Given the description of an element on the screen output the (x, y) to click on. 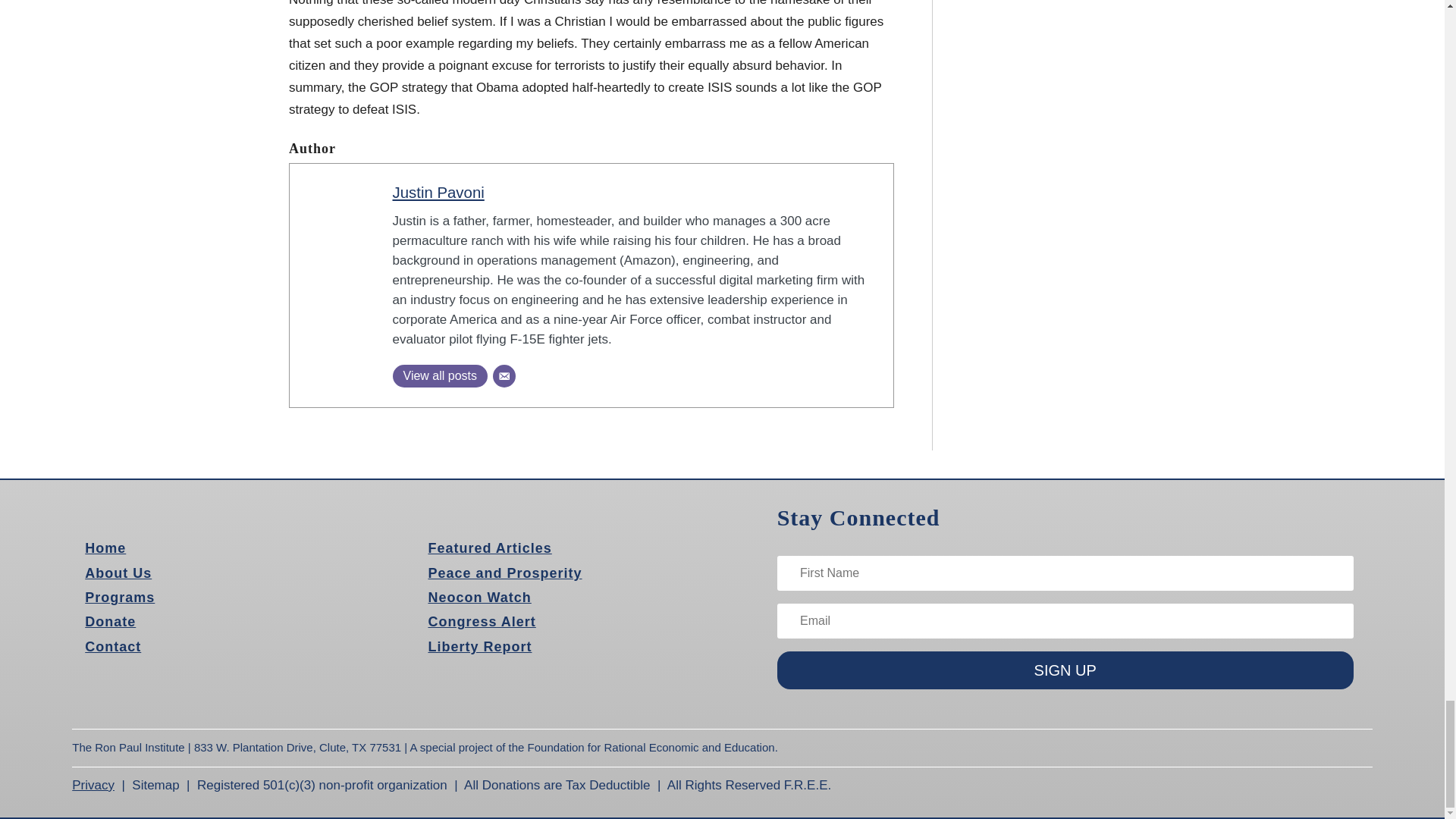
Justin Pavoni (438, 192)
View all posts (440, 375)
Review our Privacy Policy (93, 785)
View all posts (440, 375)
Justin Pavoni (438, 192)
